Given the description of an element on the screen output the (x, y) to click on. 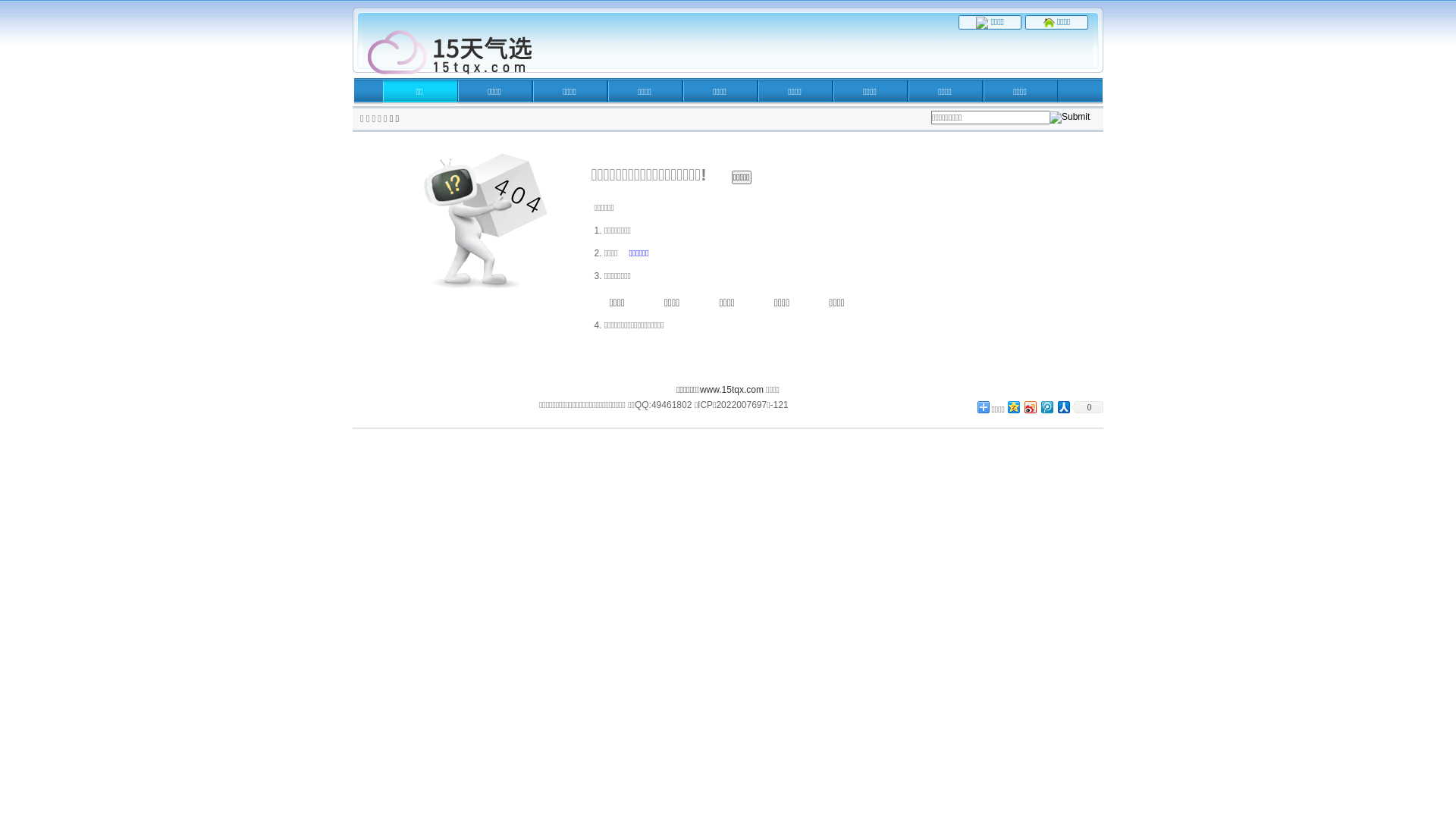
www.15tqx.com Element type: text (731, 389)
0 Element type: text (1087, 407)
